Given the description of an element on the screen output the (x, y) to click on. 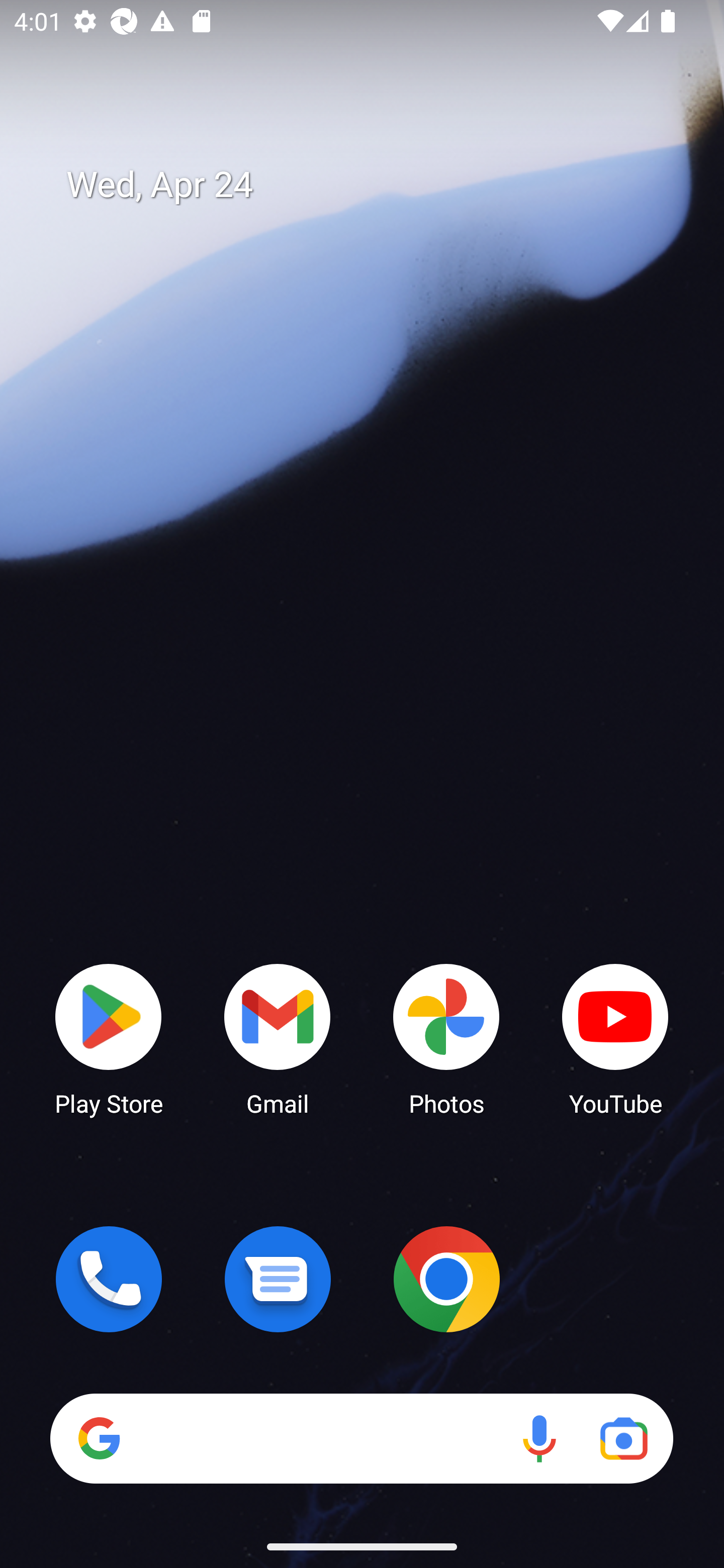
Wed, Apr 24 (375, 184)
Play Store (108, 1038)
Gmail (277, 1038)
Photos (445, 1038)
YouTube (615, 1038)
Phone (108, 1279)
Messages (277, 1279)
Chrome (446, 1279)
Search Voice search Google Lens (361, 1438)
Voice search (539, 1438)
Google Lens (623, 1438)
